Given the description of an element on the screen output the (x, y) to click on. 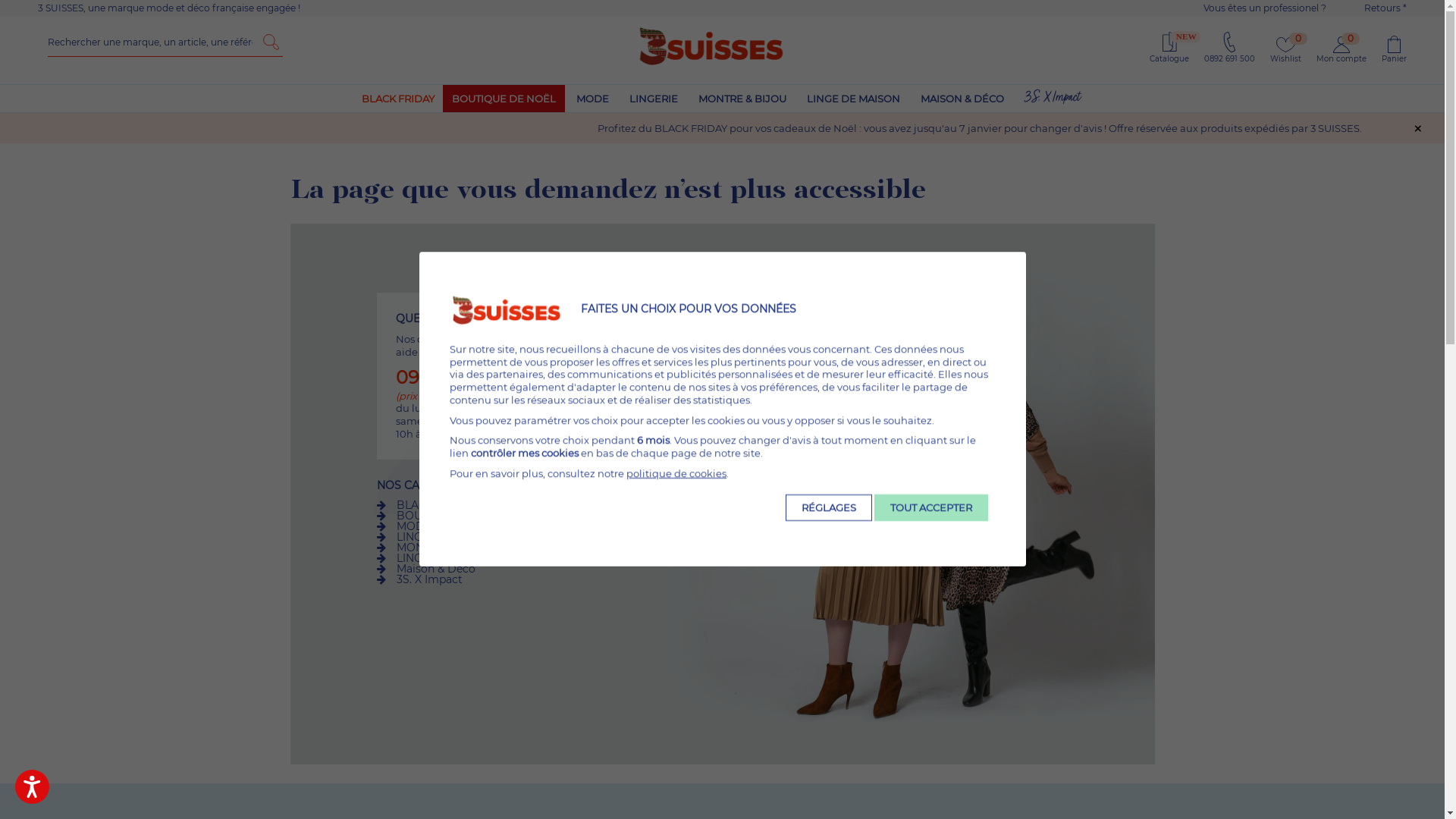
TOUT ACCEPTER Element type: text (930, 508)
Mon compte Element type: text (1341, 59)
Wishlist
0 Element type: text (1285, 59)
LINGERIE Element type: text (420, 535)
0892 691 500 Element type: text (1229, 59)
Catalogue 3 SUISSES Element type: hover (1169, 46)
Retours * Element type: text (1404, 7)
Panier Element type: text (1393, 59)
MODE Element type: text (412, 525)
3S. X Impact Element type: text (1051, 98)
LINGE DE MAISON Element type: text (853, 98)
LINGERIE Element type: text (653, 98)
BLACK FRIDAY Element type: text (396, 98)
BLACK FRIDAY Element type: text (435, 504)
MONTRE & BIJOU Element type: text (741, 98)
MODE Element type: text (592, 98)
Catalogue Element type: text (1169, 59)
LINGE DE MAISON Element type: text (445, 557)
Wishlist Element type: hover (1285, 44)
Valider Element type: text (270, 42)
3S. X Impact Element type: text (428, 578)
Panier Element type: hover (1393, 44)
politique de cookies Element type: text (676, 473)
MONTRE & BIJOU Element type: text (442, 546)
